Given the description of an element on the screen output the (x, y) to click on. 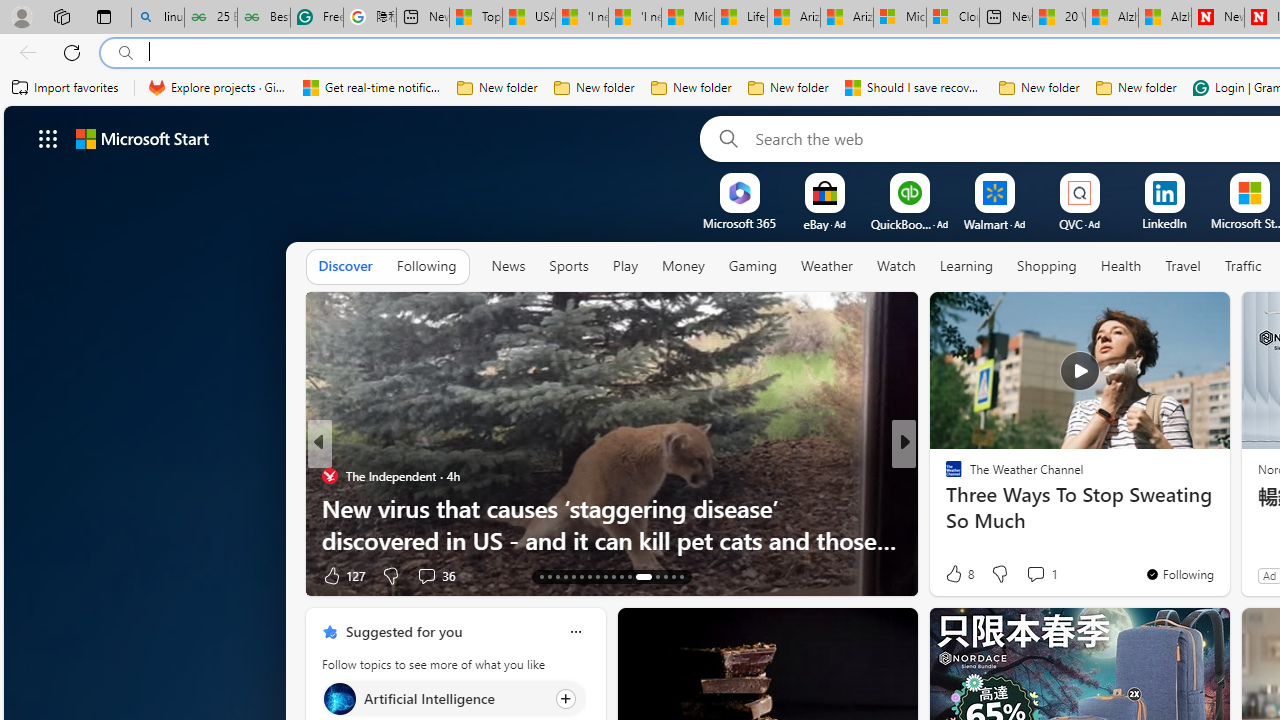
AutomationID: tab-22 (613, 576)
AutomationID: tab-28 (673, 576)
Should I save recovered Word documents? - Microsoft Support (913, 88)
View comments 7 Comment (1041, 574)
Search icon (125, 53)
20 Ways to Boost Your Protein Intake at Every Meal (1059, 17)
Artificial Intelligence (338, 697)
